Given the description of an element on the screen output the (x, y) to click on. 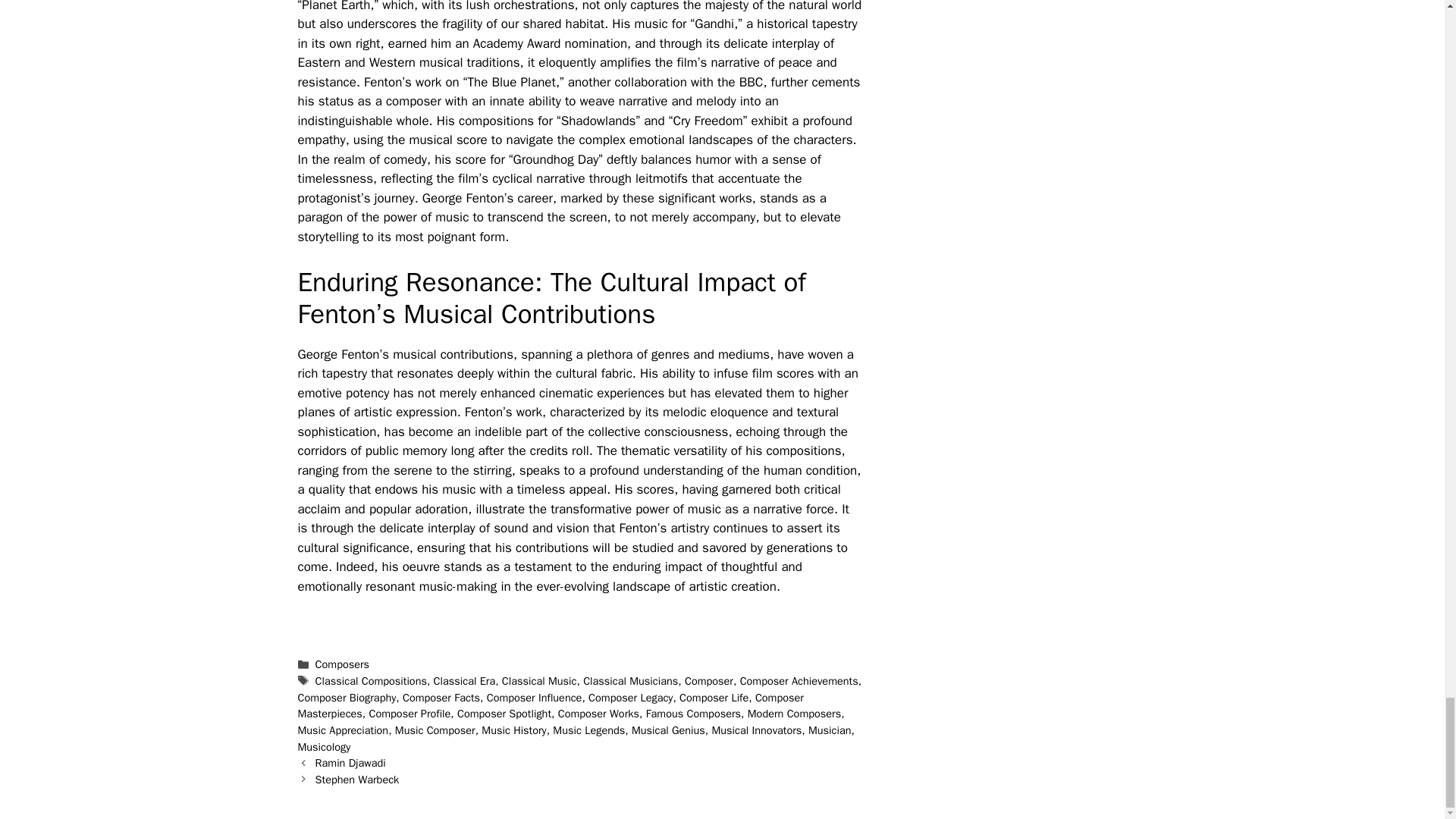
Composer (708, 680)
Composers (342, 663)
Composer Life (713, 697)
Composer Facts (441, 697)
Composer Influence (534, 697)
Classical Music (539, 680)
Classical Musicians (630, 680)
Classical Compositions (370, 680)
Composer Biography (346, 697)
Classical Era (464, 680)
Composer Achievements (799, 680)
Composer Legacy (630, 697)
